Given the description of an element on the screen output the (x, y) to click on. 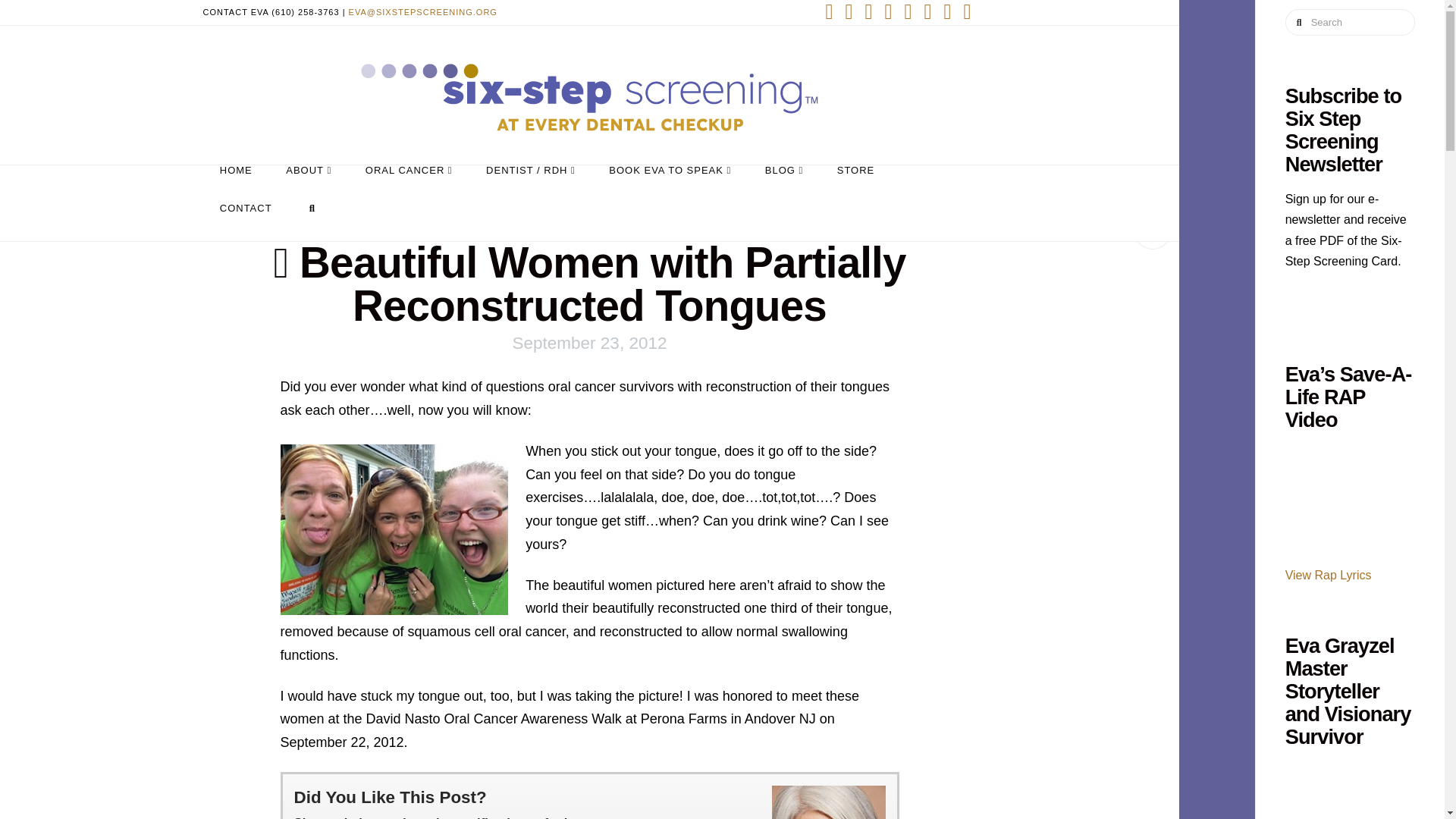
HOME (236, 184)
ABOUT (309, 184)
Tongues (394, 529)
ORAL CANCER (408, 184)
